Given the description of an element on the screen output the (x, y) to click on. 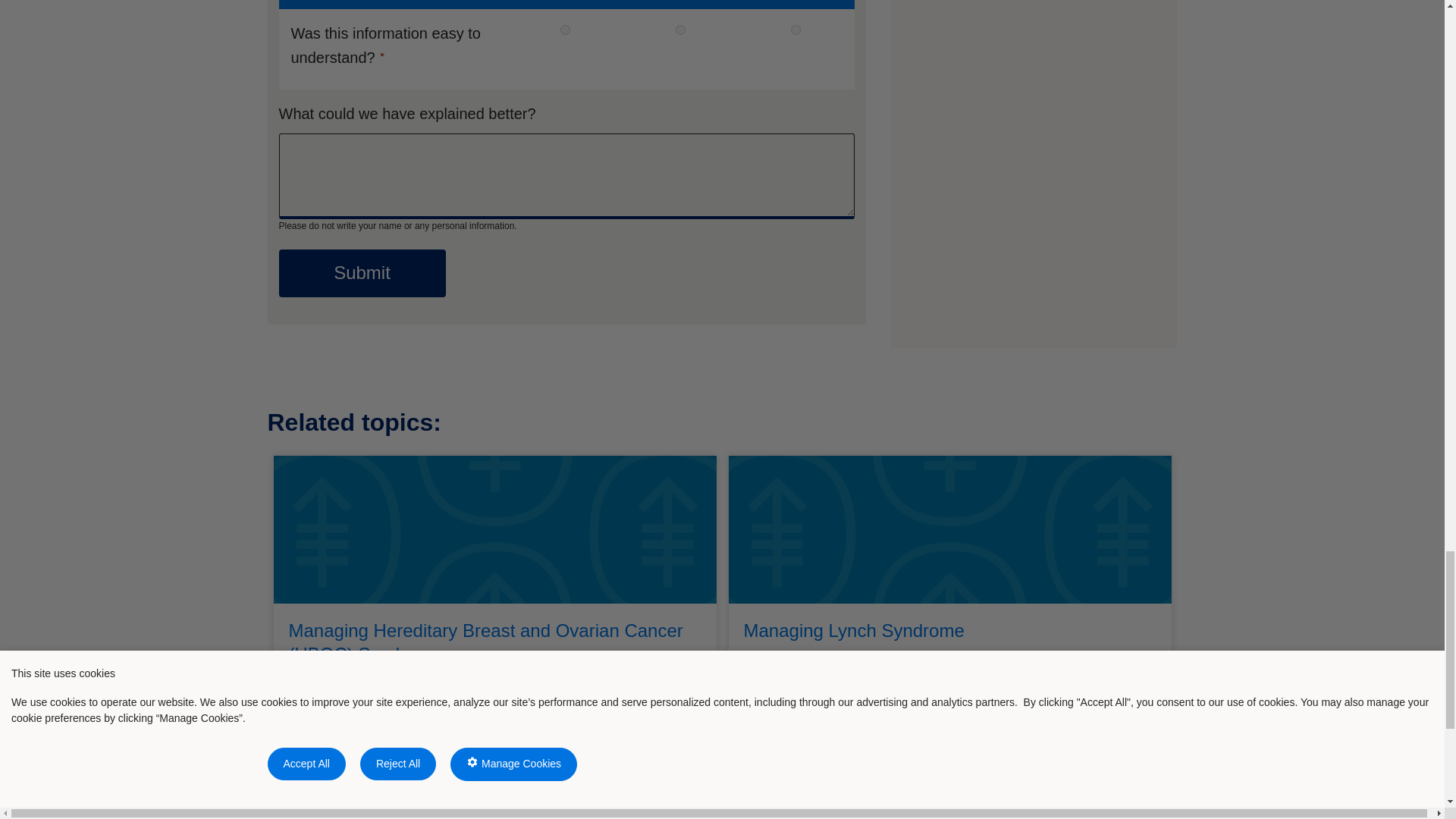
Somewhat (680, 30)
Submit (362, 272)
Yes (565, 30)
No (795, 30)
